Given the description of an element on the screen output the (x, y) to click on. 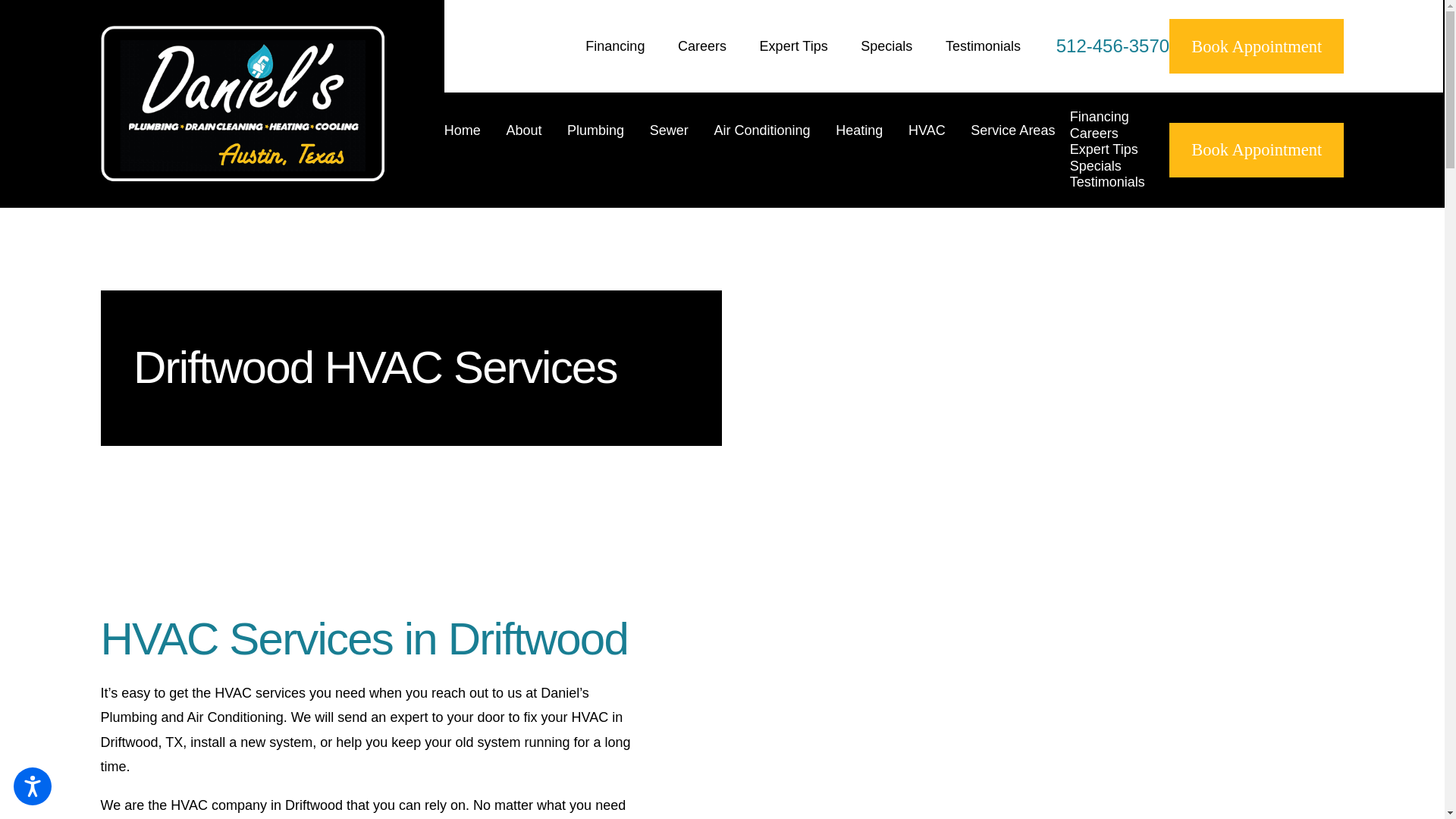
Financing (615, 46)
Testimonials (982, 46)
About (530, 149)
512-456-3570 (1113, 45)
Home (469, 149)
Specials (886, 46)
Plumbing (603, 149)
Careers (702, 46)
Expert Tips (794, 46)
Daniel's Plumbing and Air Conditioning (242, 102)
Open the accessibility options menu (31, 786)
Book Appointment (1256, 45)
